Given the description of an element on the screen output the (x, y) to click on. 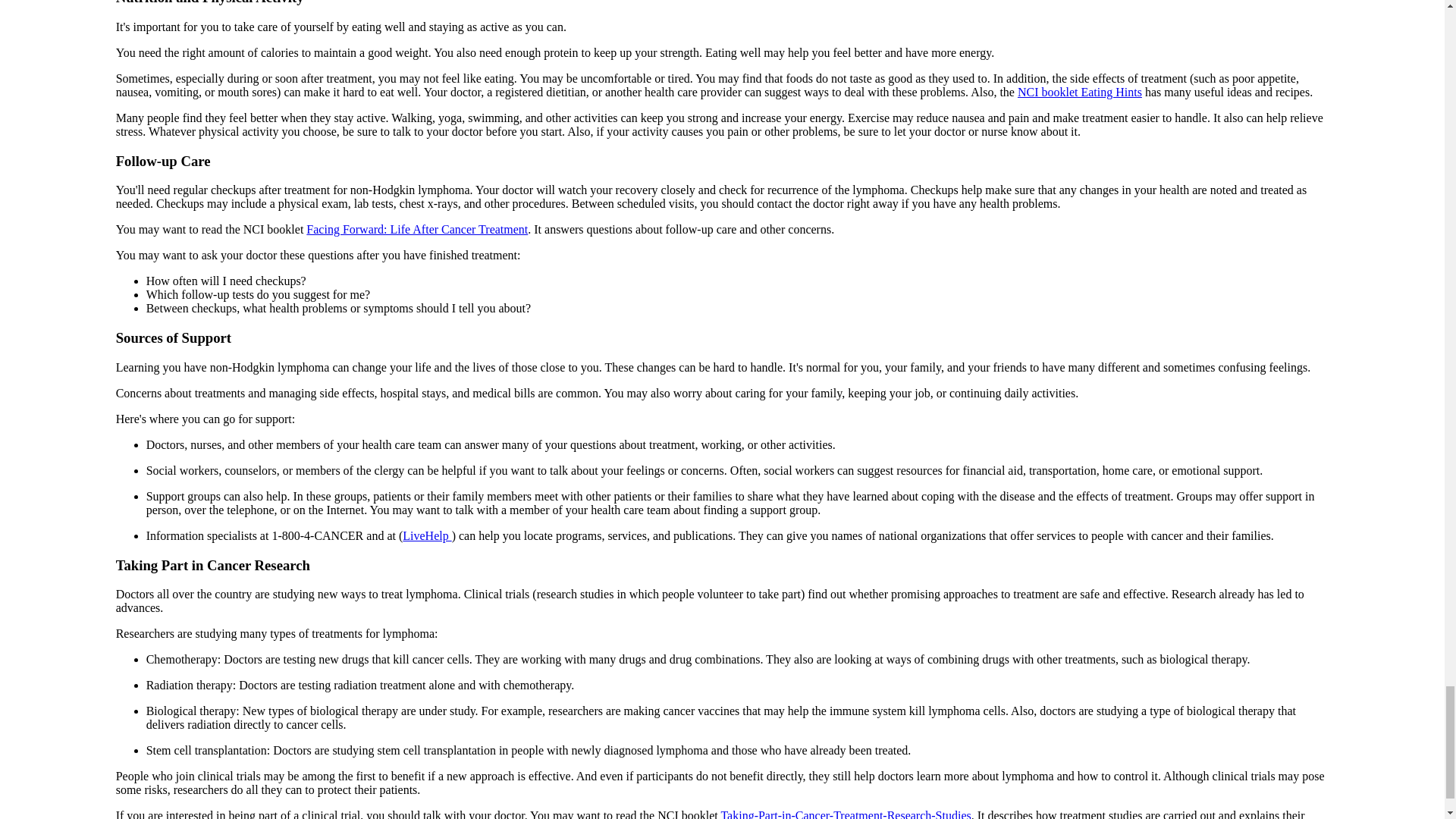
Facing Forward: Life After Cancer Treatment (416, 228)
Taking-Part-in-Cancer-Treatment-Research-Studies (845, 814)
LiveHelp (427, 535)
NCI booklet Eating Hints (1079, 91)
